Given the description of an element on the screen output the (x, y) to click on. 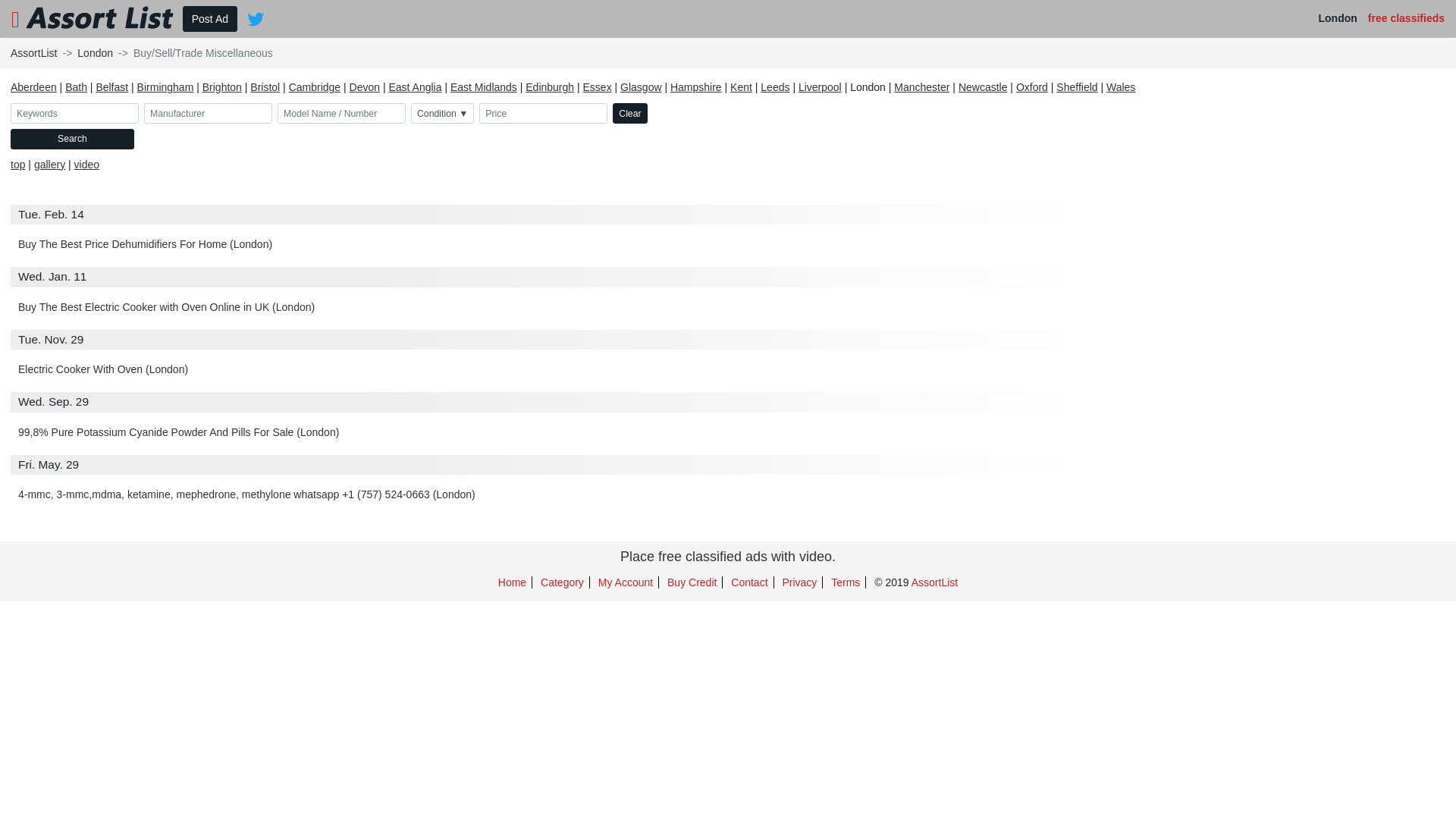
Buy The Best Electric Cooker with Oven Online in UK (London) Element type: text (166, 307)
Home Element type: text (512, 582)
Devon Element type: text (364, 87)
top Element type: text (17, 164)
Electric Cooker With Oven (London) Element type: text (103, 369)
Leeds Element type: text (774, 87)
London Element type: text (94, 53)
Buy The Best Price Dehumidifiers For Home (London) Element type: text (145, 244)
Bristol Element type: text (264, 87)
Buy Credit Element type: text (691, 582)
Essex Element type: text (597, 87)
Hampshire Element type: text (695, 87)
gallery Element type: text (49, 164)
Bath Element type: text (76, 87)
My Account Element type: text (625, 582)
Cambridge Element type: text (314, 87)
Aberdeen Element type: text (33, 87)
Belfast Element type: text (111, 87)
East Anglia Element type: text (414, 87)
AssortList Element type: text (934, 582)
AssortList Element type: text (33, 53)
Place free classified ads with video. Element type: text (727, 556)
Contact Element type: text (749, 582)
Sheffield Element type: text (1076, 87)
Search Element type: text (72, 138)
Liverpool Element type: text (819, 87)
Glasgow Element type: text (640, 87)
Category Element type: text (561, 582)
Newcastle Element type: text (982, 87)
Wales Element type: text (1120, 87)
Kent Element type: text (741, 87)
Oxford Element type: text (1032, 87)
Brighton Element type: text (221, 87)
Edinburgh Element type: text (549, 87)
Manchester Element type: text (921, 87)
Privacy Element type: text (798, 582)
Birmingham Element type: text (165, 87)
Terms Element type: text (845, 582)
Post Ad Element type: text (209, 18)
Clear Element type: text (629, 113)
East Midlands Element type: text (483, 87)
video Element type: text (86, 164)
